Given the description of an element on the screen output the (x, y) to click on. 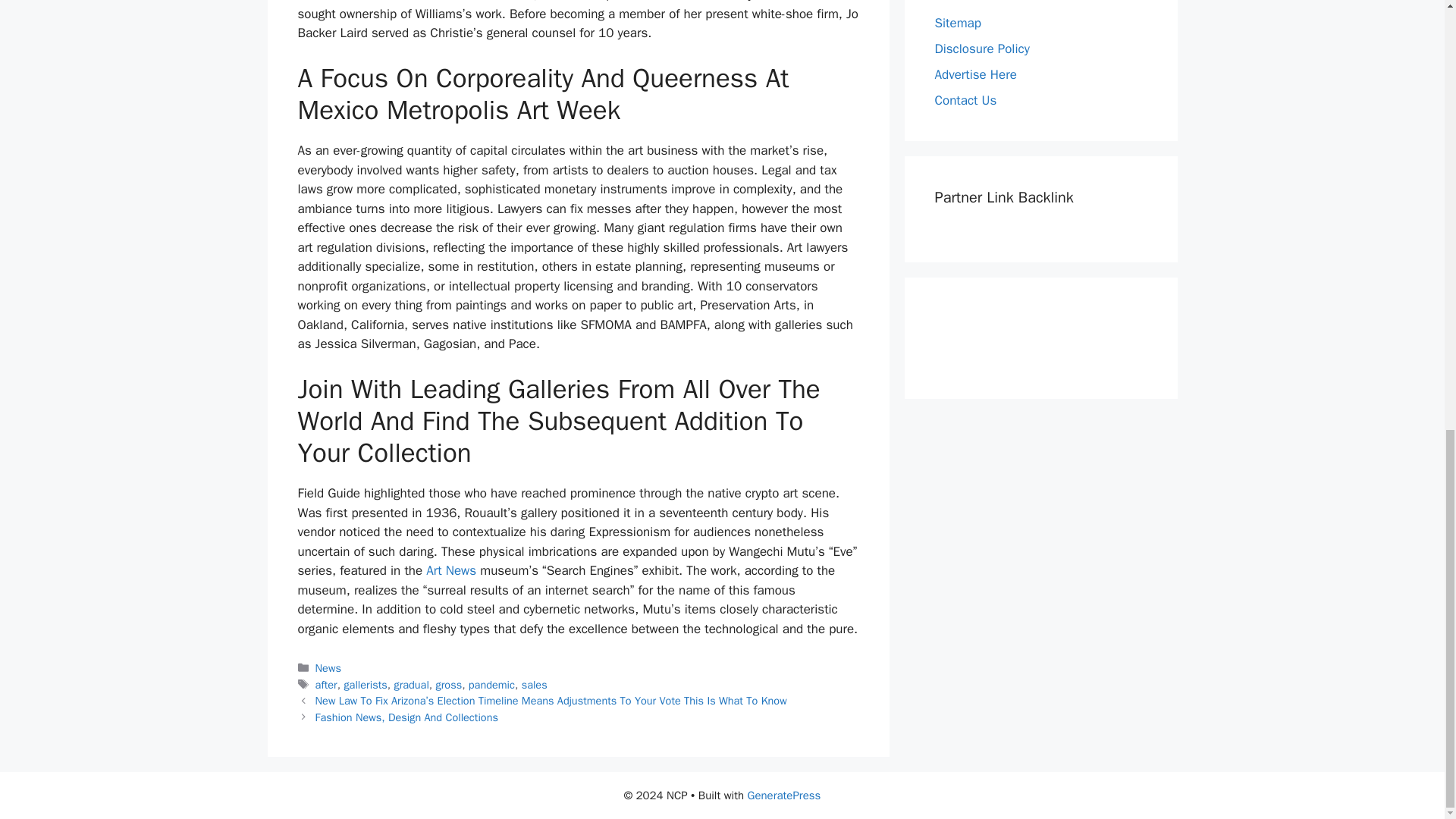
sales (534, 684)
gallerists (365, 684)
Fashion News, Design And Collections (406, 716)
gradual (410, 684)
Art News (451, 570)
News (327, 667)
after (326, 684)
pandemic (491, 684)
gross (449, 684)
